Given the description of an element on the screen output the (x, y) to click on. 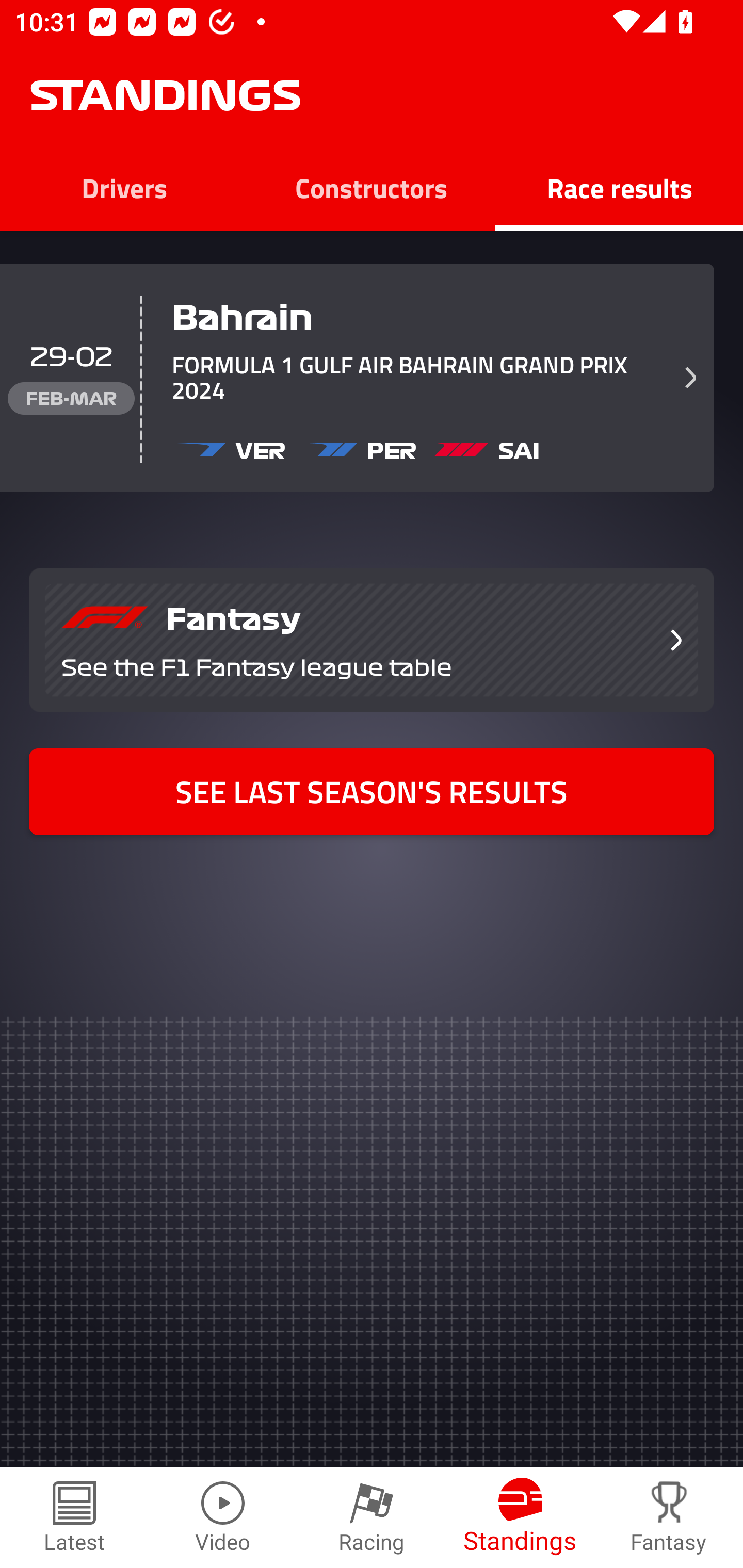
Drivers (123, 187)
Constructors (371, 187)
Fantasy See the F1 Fantasy league table (371, 639)
SEE LAST SEASON'S RESULTS (371, 791)
Latest (74, 1517)
Video (222, 1517)
Racing (371, 1517)
Fantasy (668, 1517)
